Given the description of an element on the screen output the (x, y) to click on. 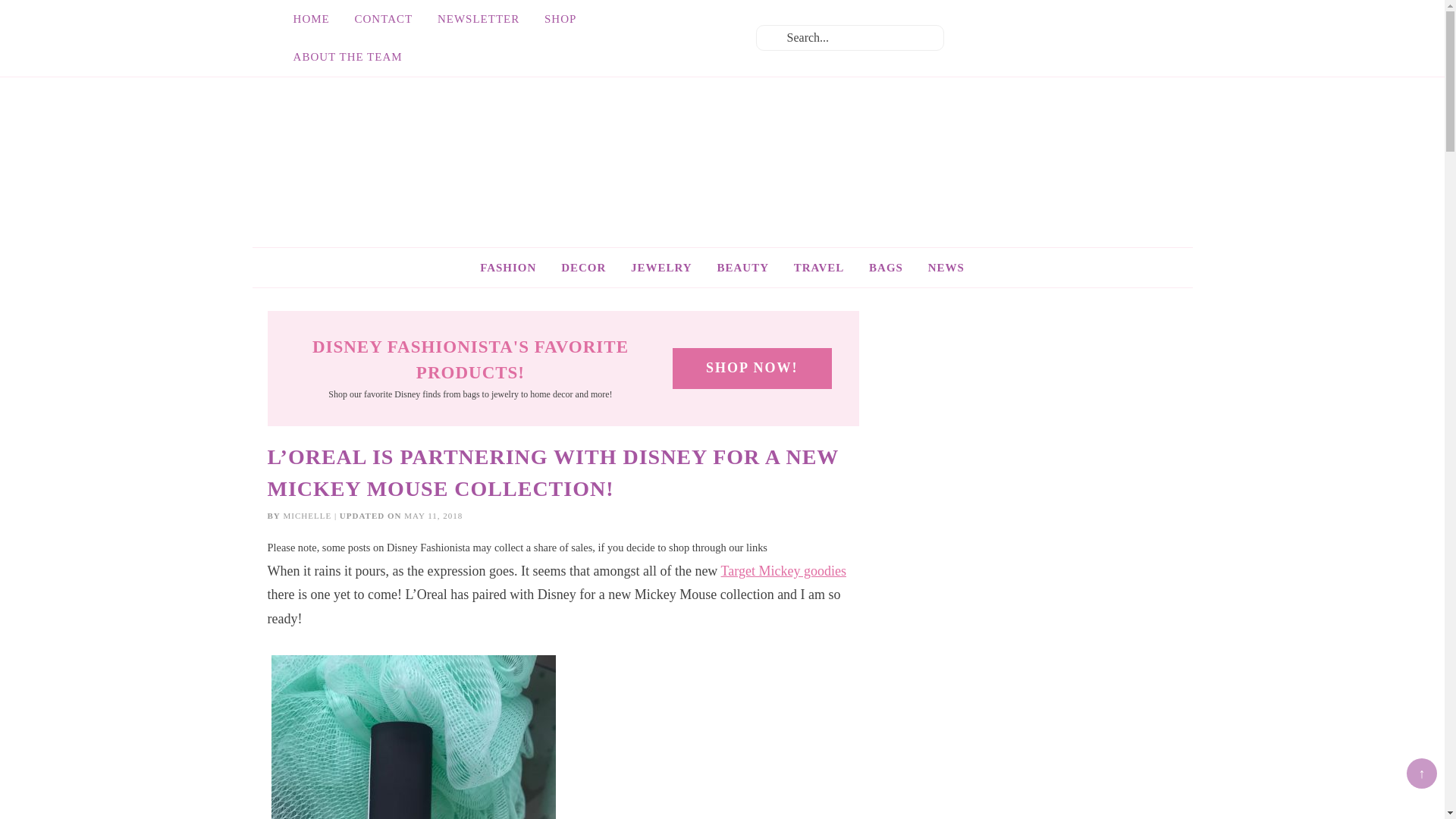
HOME (311, 18)
SHOP (560, 18)
CONTACT (383, 18)
Want to go to Disney? (819, 267)
NEWSLETTER (477, 18)
ABOUT THE TEAM (347, 56)
The Latest News! (946, 267)
